Given the description of an element on the screen output the (x, y) to click on. 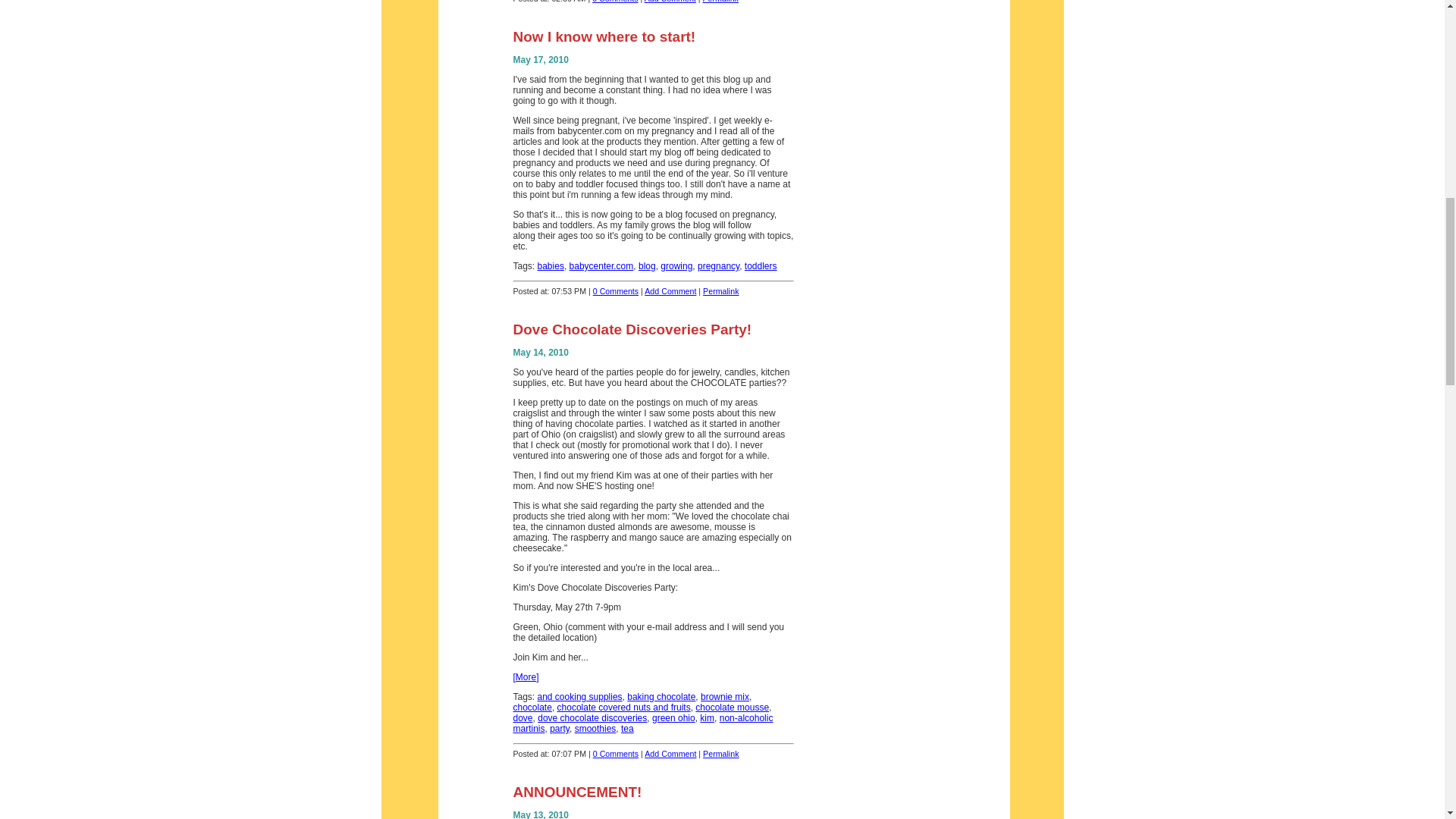
Add Comment (670, 1)
0 Comments (614, 1)
Permalink (720, 1)
babies (550, 266)
